Given the description of an element on the screen output the (x, y) to click on. 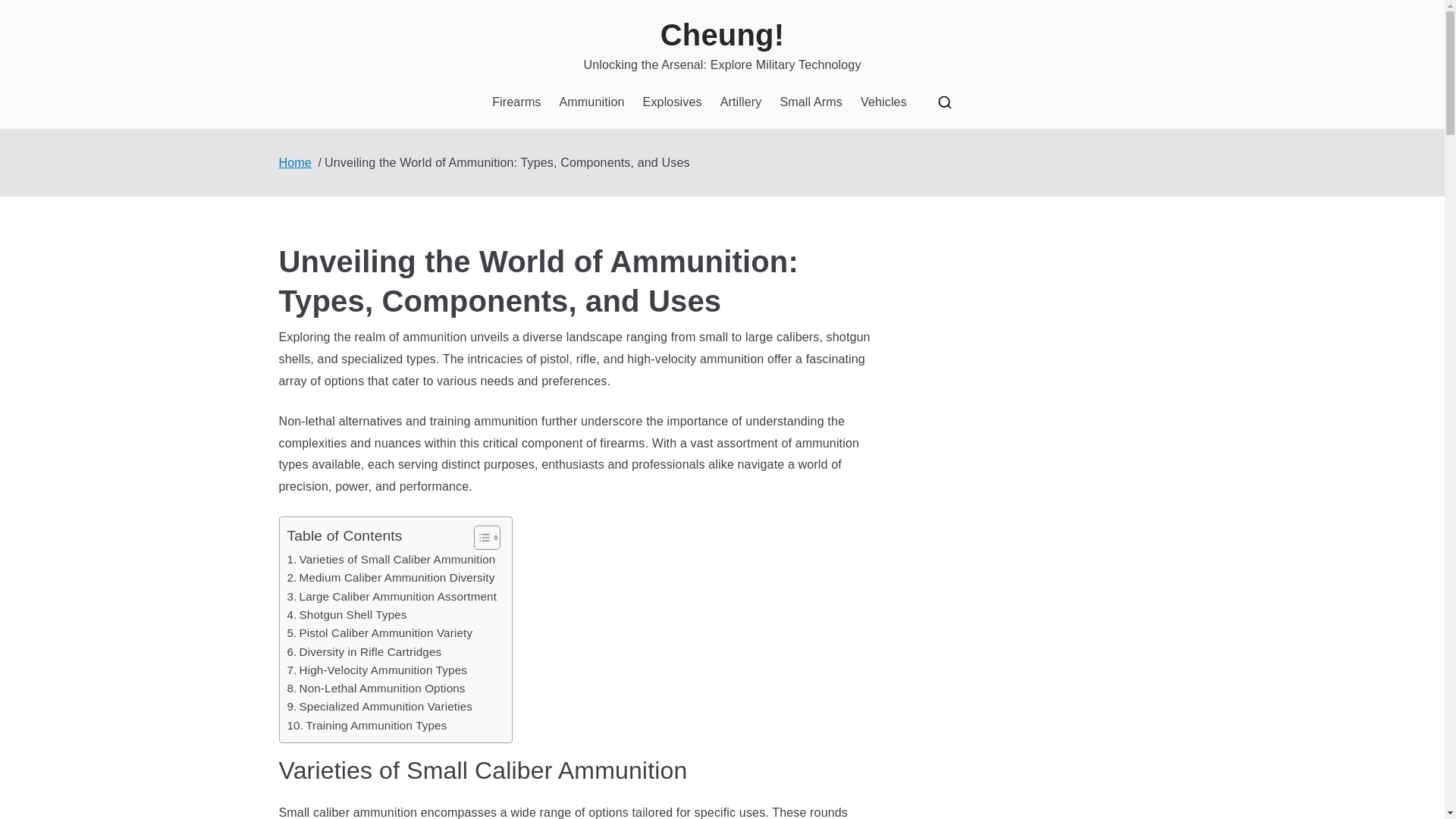
Varieties of Small Caliber Ammunition (390, 559)
Specialized Ammunition Varieties (378, 706)
Shotgun Shell Types (346, 615)
Vehicles (883, 102)
Training Ammunition Types (366, 725)
Shotgun Shell Types (346, 615)
Home (295, 162)
Pistol Caliber Ammunition Variety (378, 633)
Search (26, 12)
Large Caliber Ammunition Assortment (391, 597)
Non-Lethal Ammunition Options (375, 688)
Explosives (672, 102)
Diversity in Rifle Cartridges (363, 651)
Varieties of Small Caliber Ammunition (390, 559)
Medium Caliber Ammunition Diversity (390, 577)
